Given the description of an element on the screen output the (x, y) to click on. 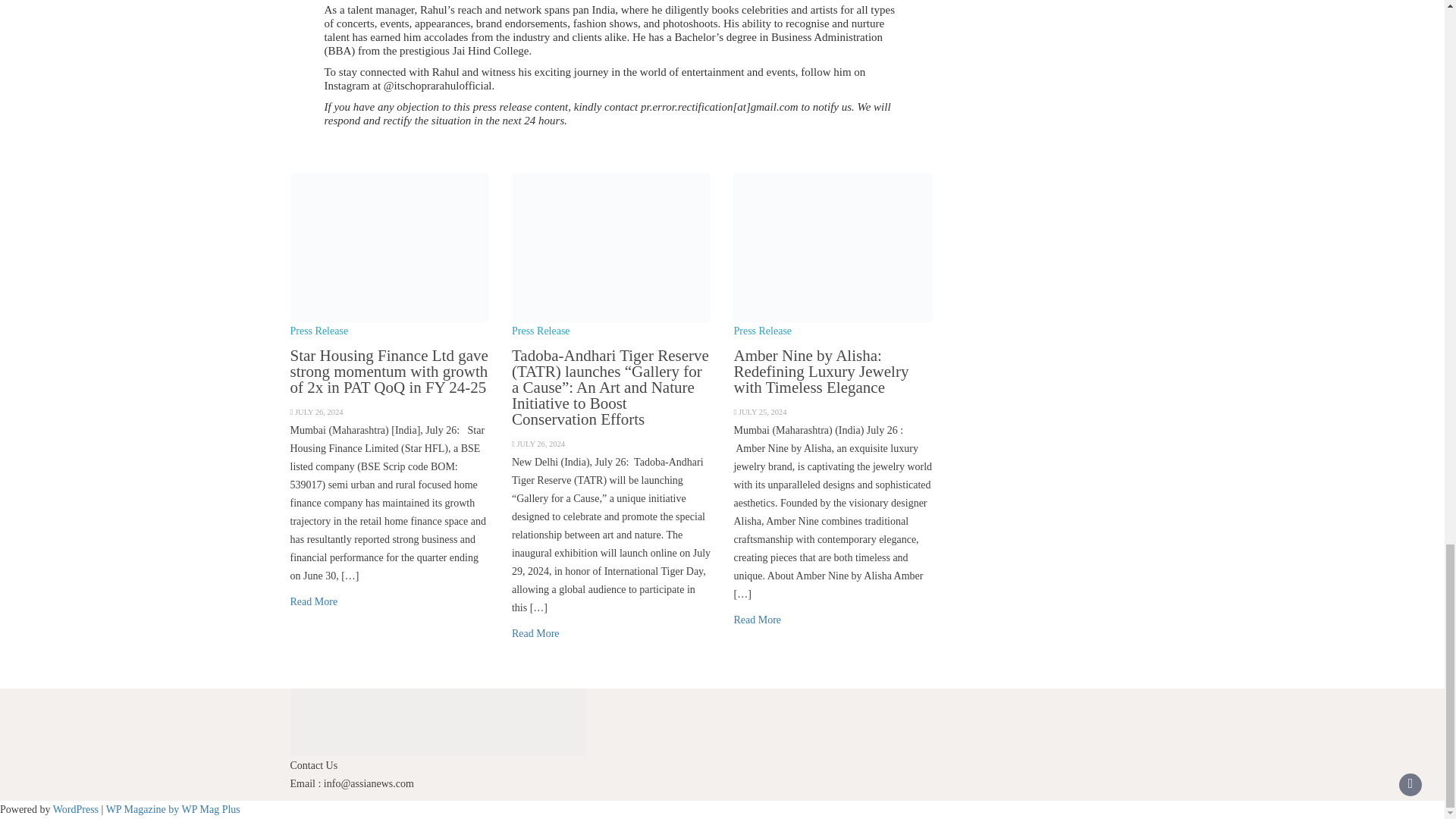
JULY 26, 2024 (540, 443)
WordPress (75, 808)
JULY 25, 2024 (762, 411)
Read More (756, 619)
JULY 26, 2024 (319, 411)
Press Release (541, 330)
Press Release (762, 330)
Read More (535, 633)
Press Release (318, 330)
WP Magazine by WP Mag Plus (173, 808)
Read More (313, 601)
